Given the description of an element on the screen output the (x, y) to click on. 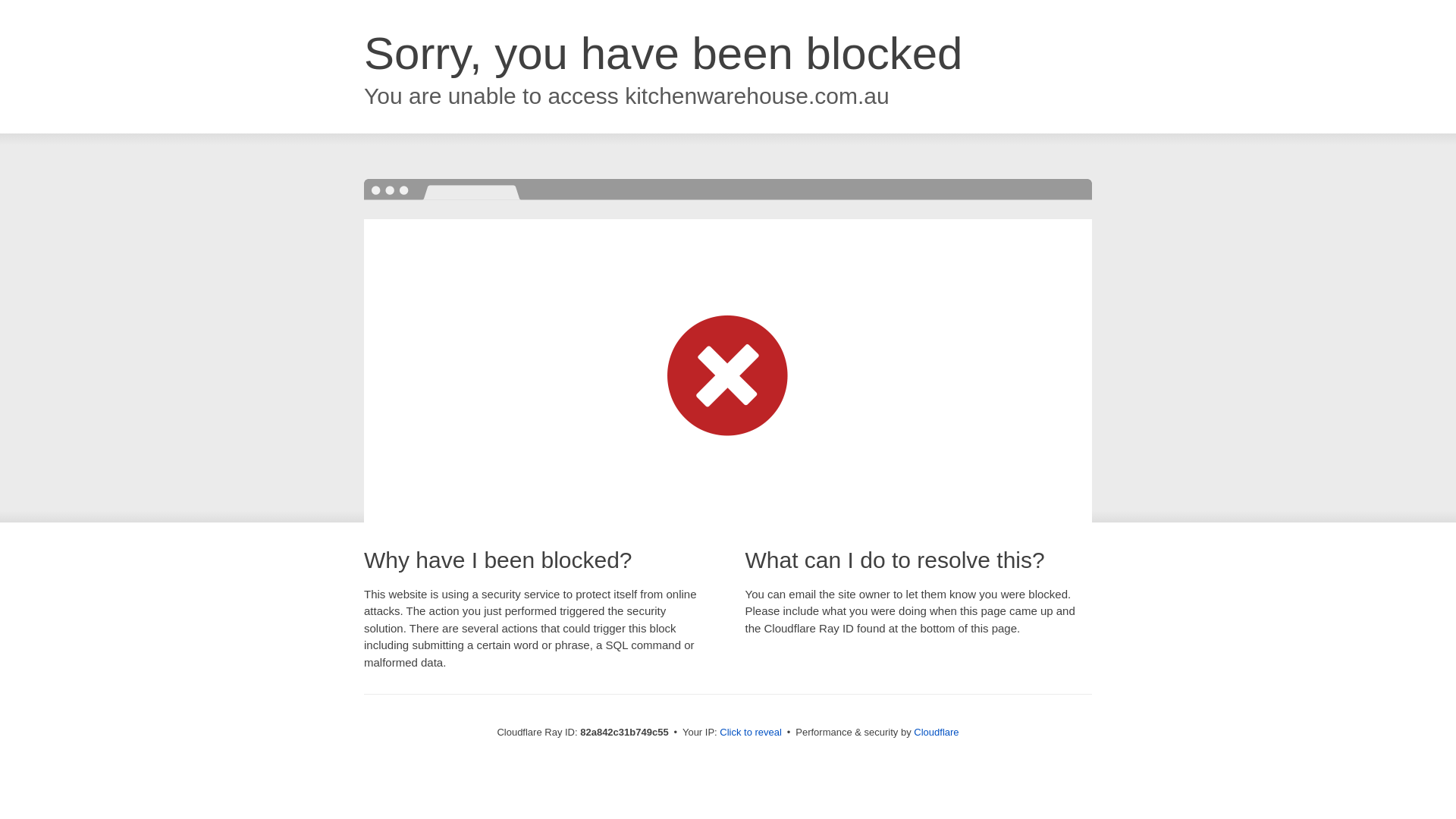
Click to reveal Element type: text (750, 732)
Cloudflare Element type: text (935, 731)
